Given the description of an element on the screen output the (x, y) to click on. 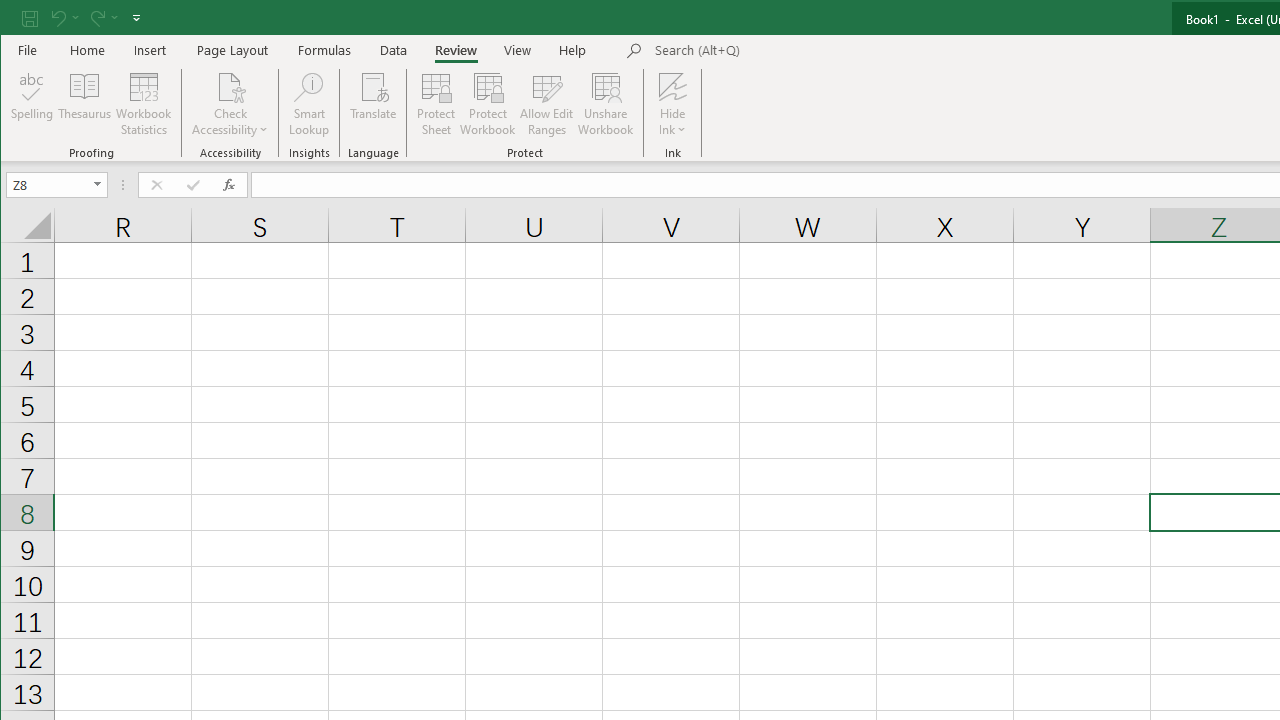
Smart Lookup (308, 104)
Translate (373, 104)
Unshare Workbook (606, 104)
